Given the description of an element on the screen output the (x, y) to click on. 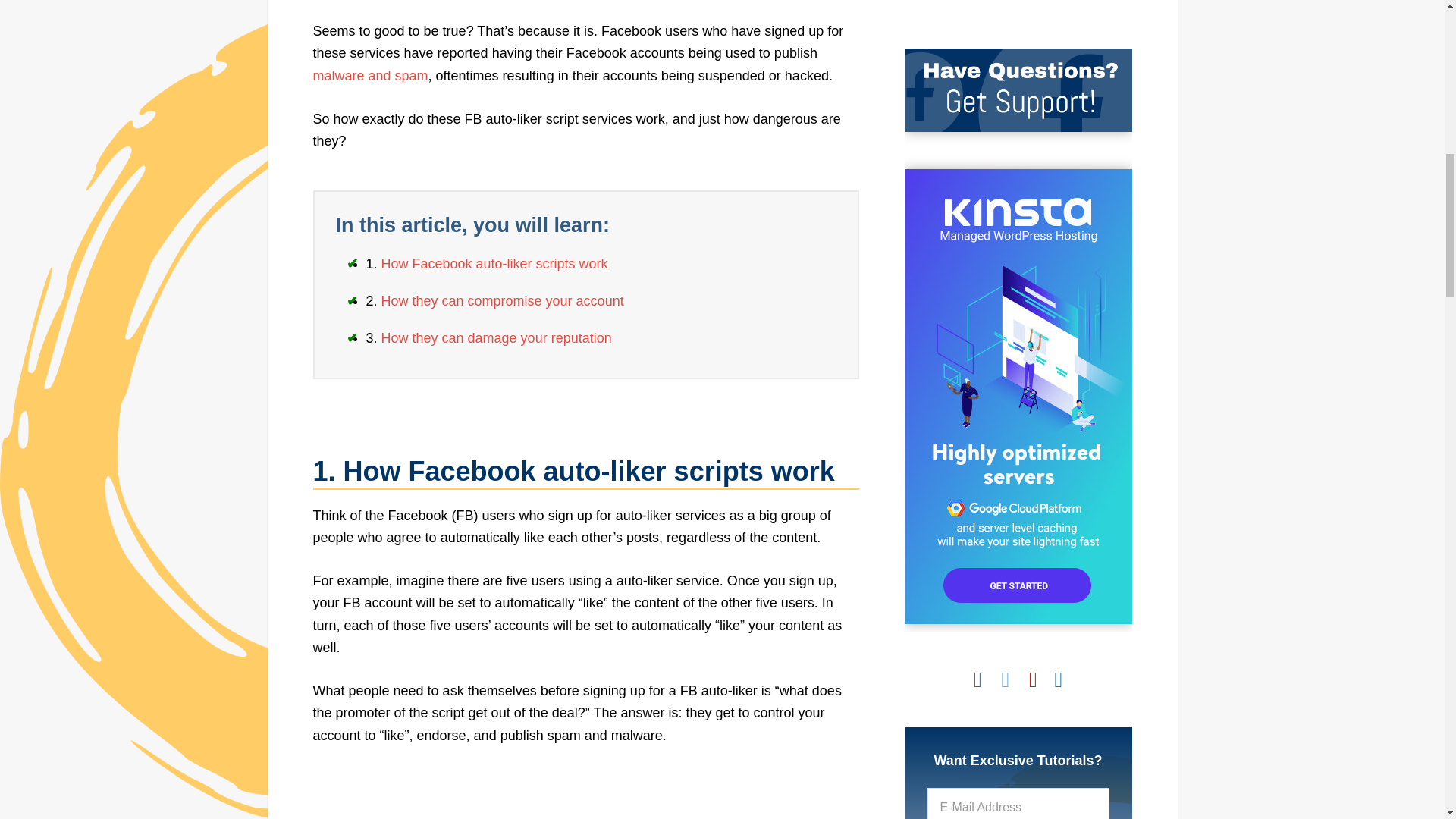
malware and spam (370, 75)
How Facebook auto-liker scripts work (494, 263)
How they can damage your reputation (496, 337)
How they can compromise your account (502, 300)
